Given the description of an element on the screen output the (x, y) to click on. 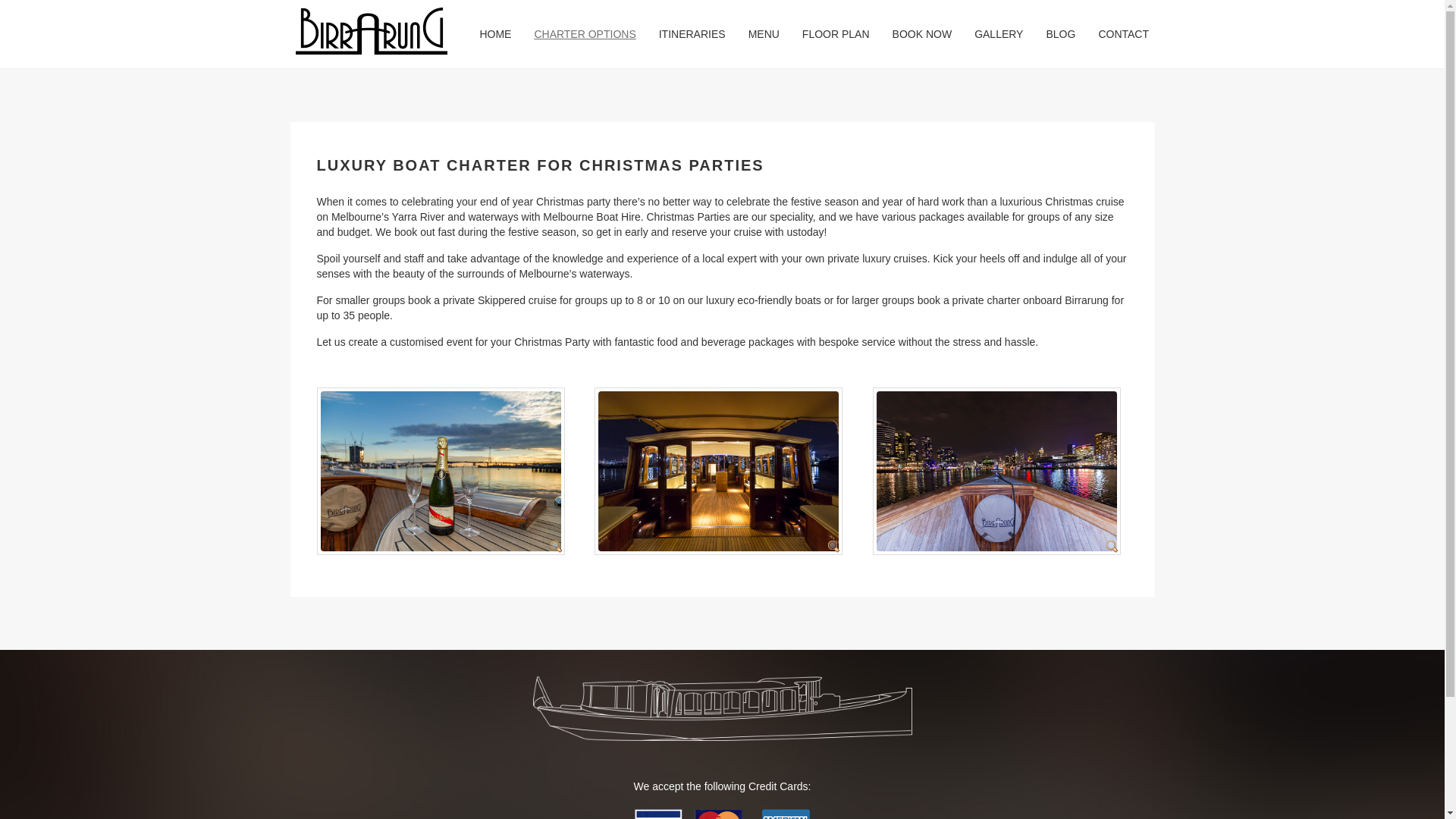
BLOG Element type: text (1060, 34)
HOME Element type: text (494, 34)
CHARTER OPTIONS Element type: text (584, 34)
Private Boat Cruise Melbourne Element type: hover (721, 708)
GALLERY Element type: text (998, 34)
Mvbirrarung Boat Hire Element type: hover (371, 30)
FLOOR PLAN Element type: text (835, 34)
CONTACT Element type: text (1123, 34)
MENU Element type: text (763, 34)
BOOK NOW Element type: text (922, 34)
ITINERARIES Element type: text (692, 34)
